Given the description of an element on the screen output the (x, y) to click on. 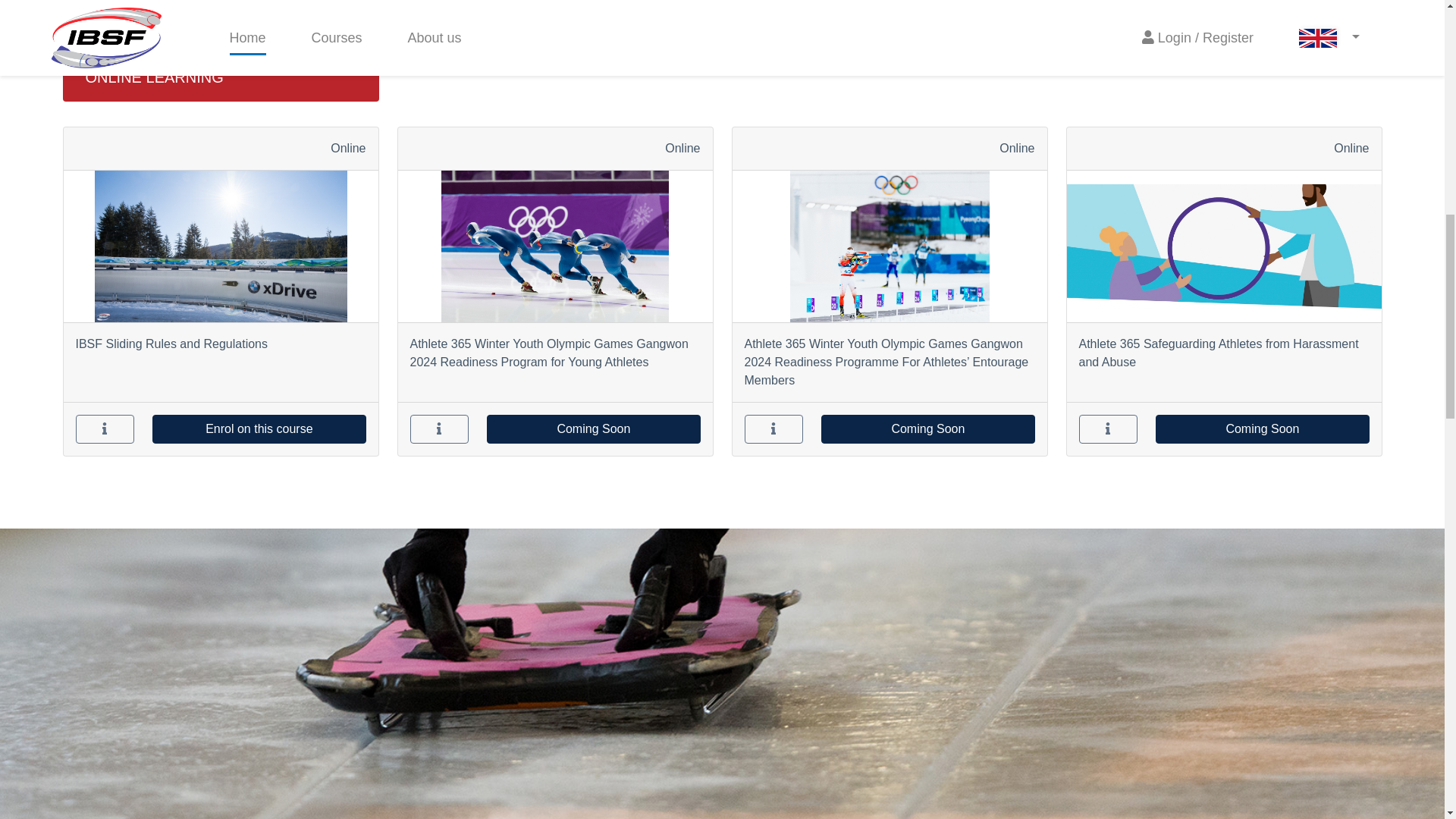
Coming Soon (593, 428)
Coming Soon (927, 428)
Enrol on this course (258, 428)
Coming Soon (1262, 428)
